Given the description of an element on the screen output the (x, y) to click on. 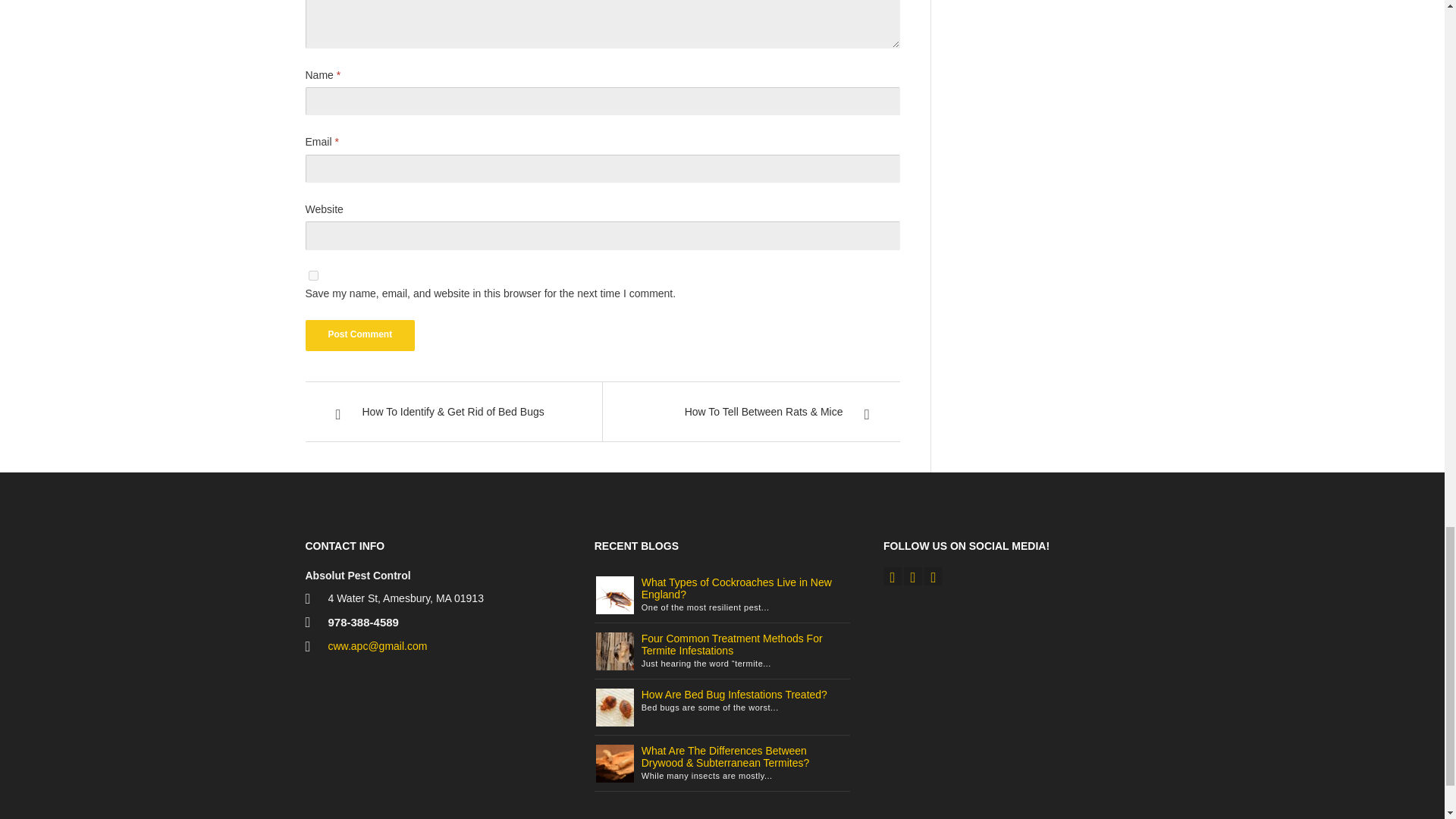
Four Common Treatment Methods For Termite Infestations (732, 644)
How Are Bed Bug Infestations Treated? (734, 694)
yes (312, 275)
What Types of Cockroaches Live in New England? (614, 594)
Post Comment (359, 335)
Four Common Treatment Methods For Termite Infestations (614, 650)
How Are Bed Bug Infestations Treated? (614, 706)
What Types of Cockroaches Live in New England? (736, 588)
